Given the description of an element on the screen output the (x, y) to click on. 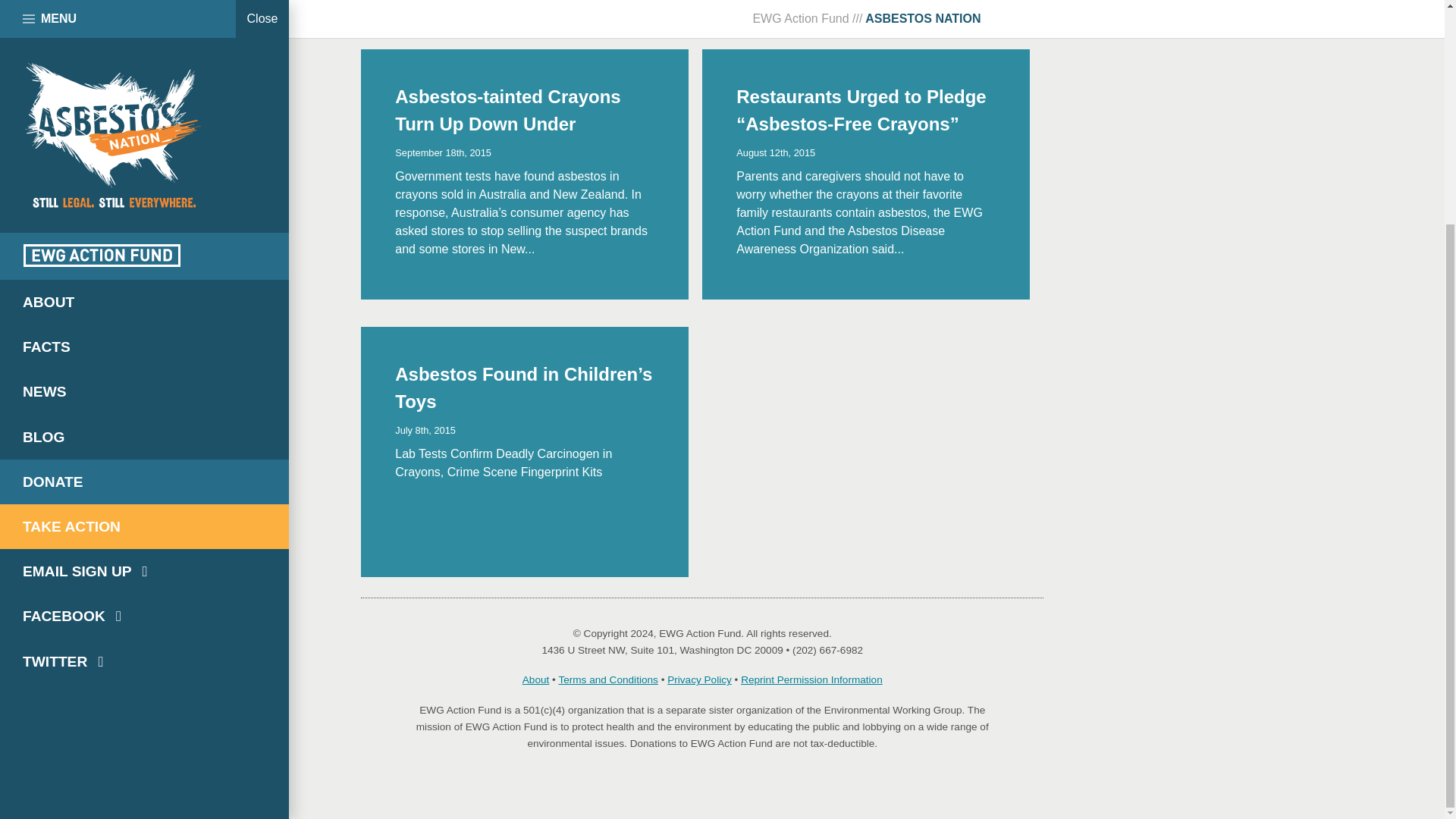
FACEBOOK (144, 316)
Privacy Policy (699, 679)
Reprint Permission Information (811, 679)
Asbestos-tainted Crayons Turn Up Down Under (507, 110)
BLOG (144, 137)
Explore Below (417, 0)
Terms and Conditions (607, 679)
FACTS (144, 47)
